Given the description of an element on the screen output the (x, y) to click on. 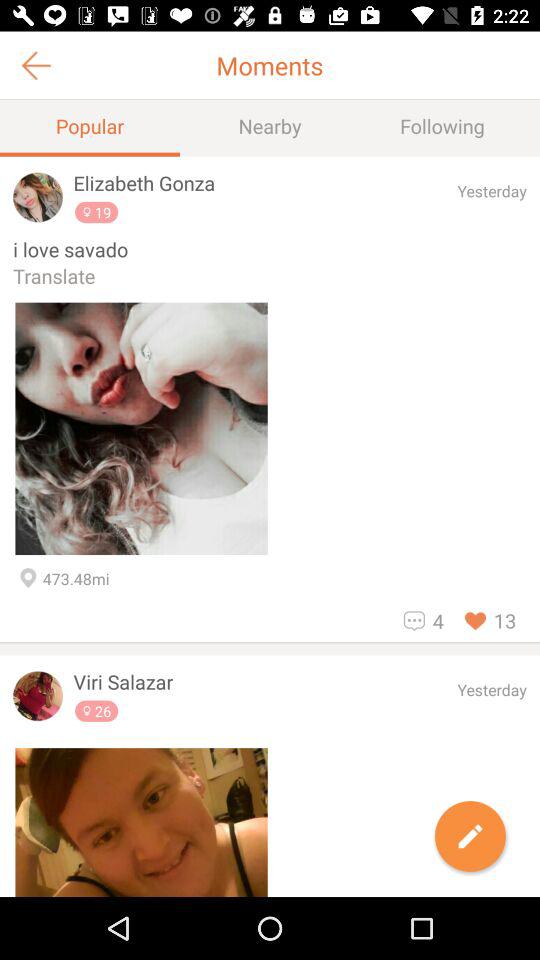
select the image (141, 822)
